Given the description of an element on the screen output the (x, y) to click on. 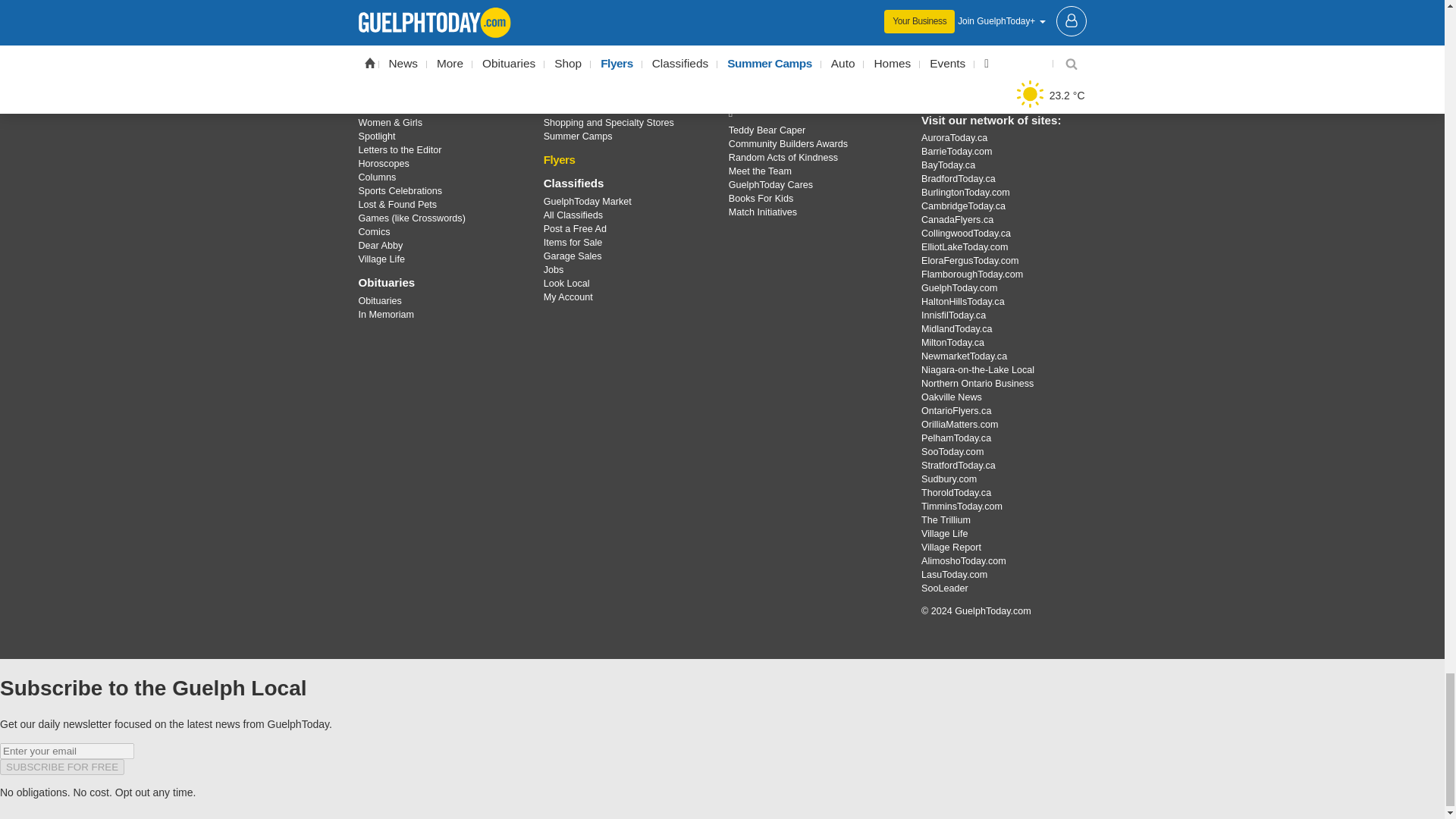
GuelphToday Cares (813, 112)
